Given the description of an element on the screen output the (x, y) to click on. 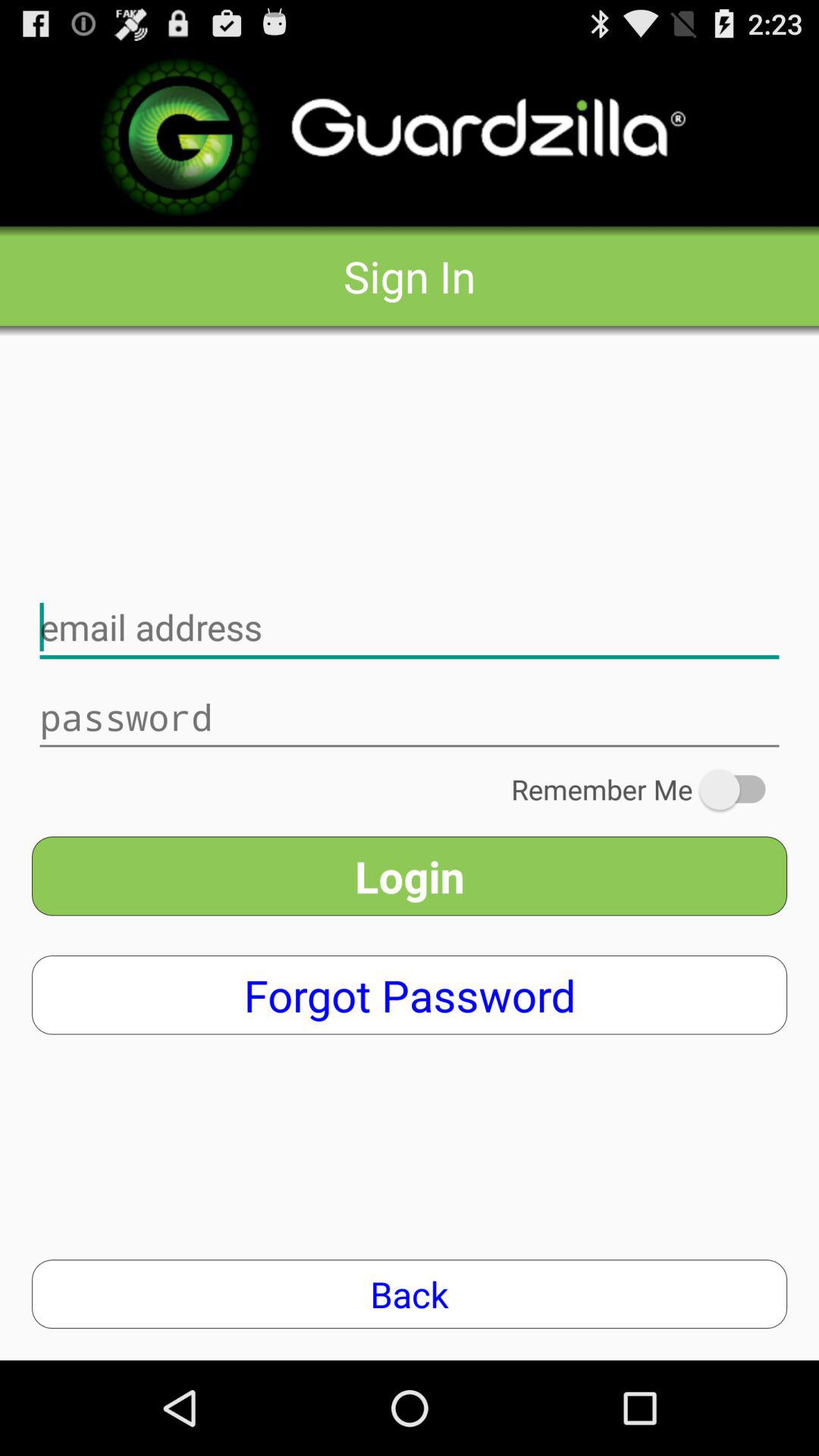
press the login app (409, 875)
